Given the description of an element on the screen output the (x, y) to click on. 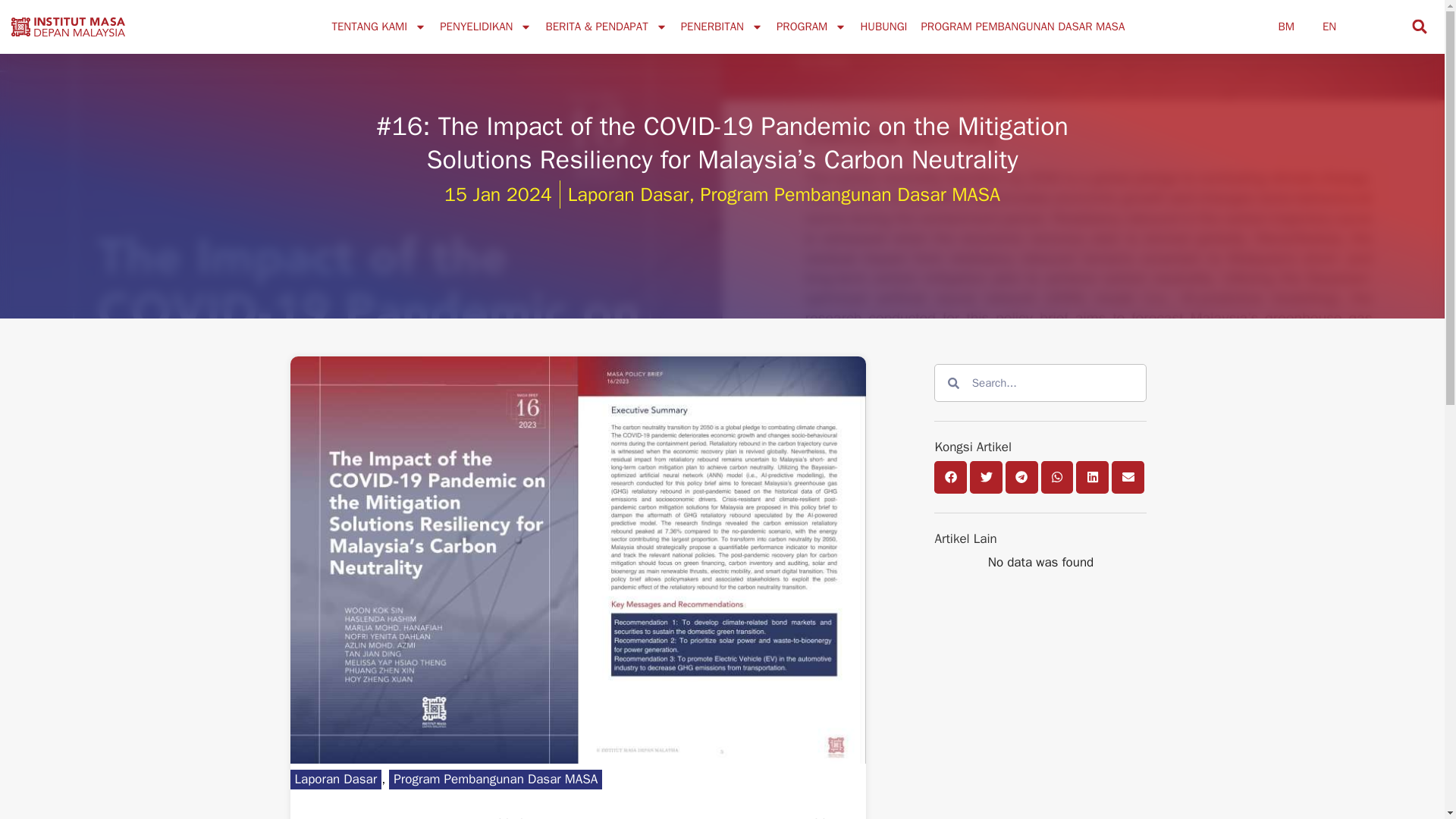
TENTANG KAMI (378, 26)
PENYELIDIKAN (485, 26)
PROGRAM (811, 26)
PENERBITAN (722, 26)
